Given the description of an element on the screen output the (x, y) to click on. 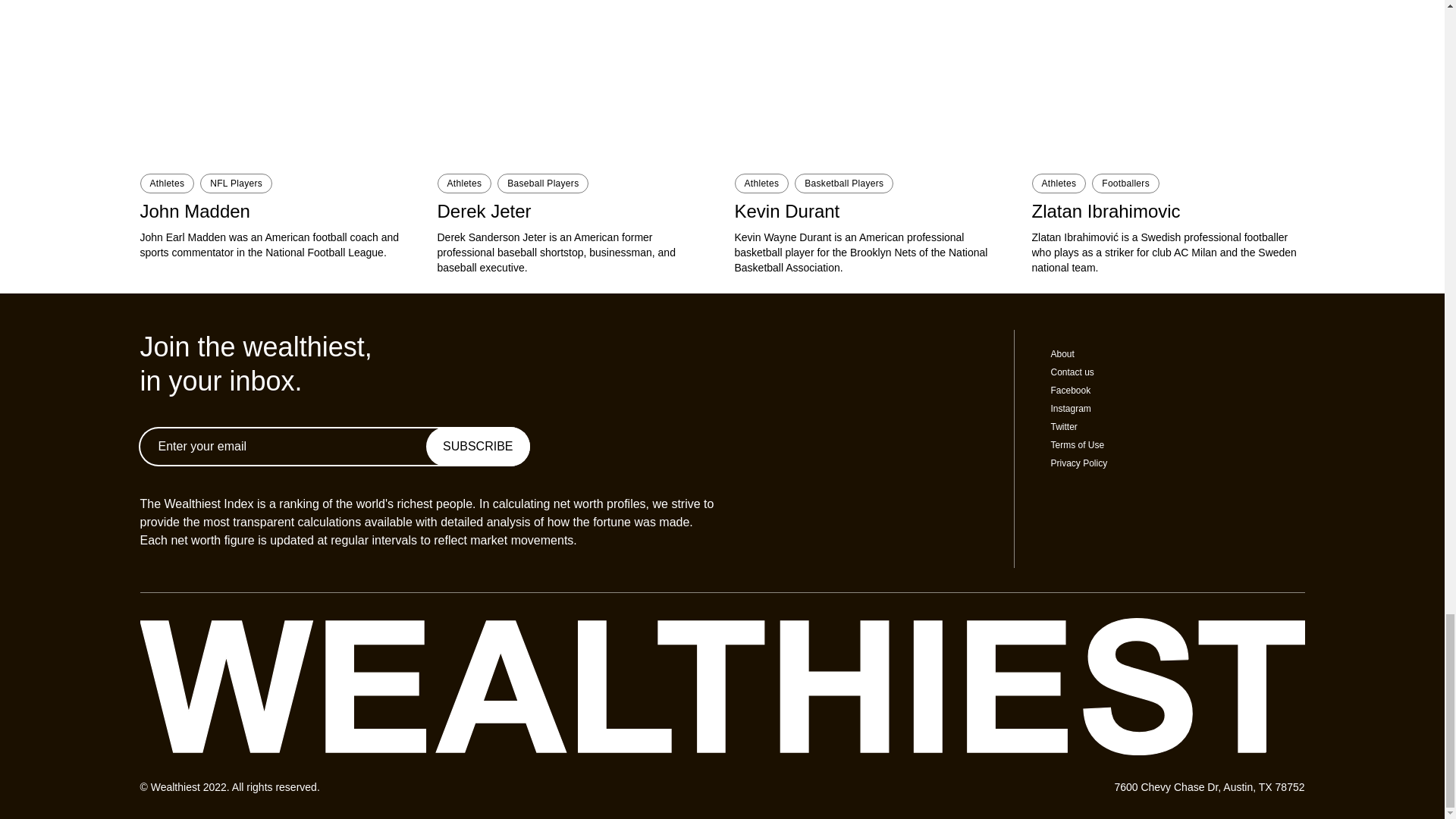
Privacy Policy (1079, 462)
Twitter (1064, 426)
Footballers (1125, 183)
Athletes (1058, 183)
Baseball Players (542, 183)
Derek Jeter (573, 211)
About (1062, 353)
Contact us (1072, 371)
Facebook (1070, 389)
Athletes (166, 183)
Basketball Players (843, 183)
NFL Players (236, 183)
Kevin Durant (870, 211)
Athletes (761, 183)
Terms of Use (1078, 444)
